Given the description of an element on the screen output the (x, y) to click on. 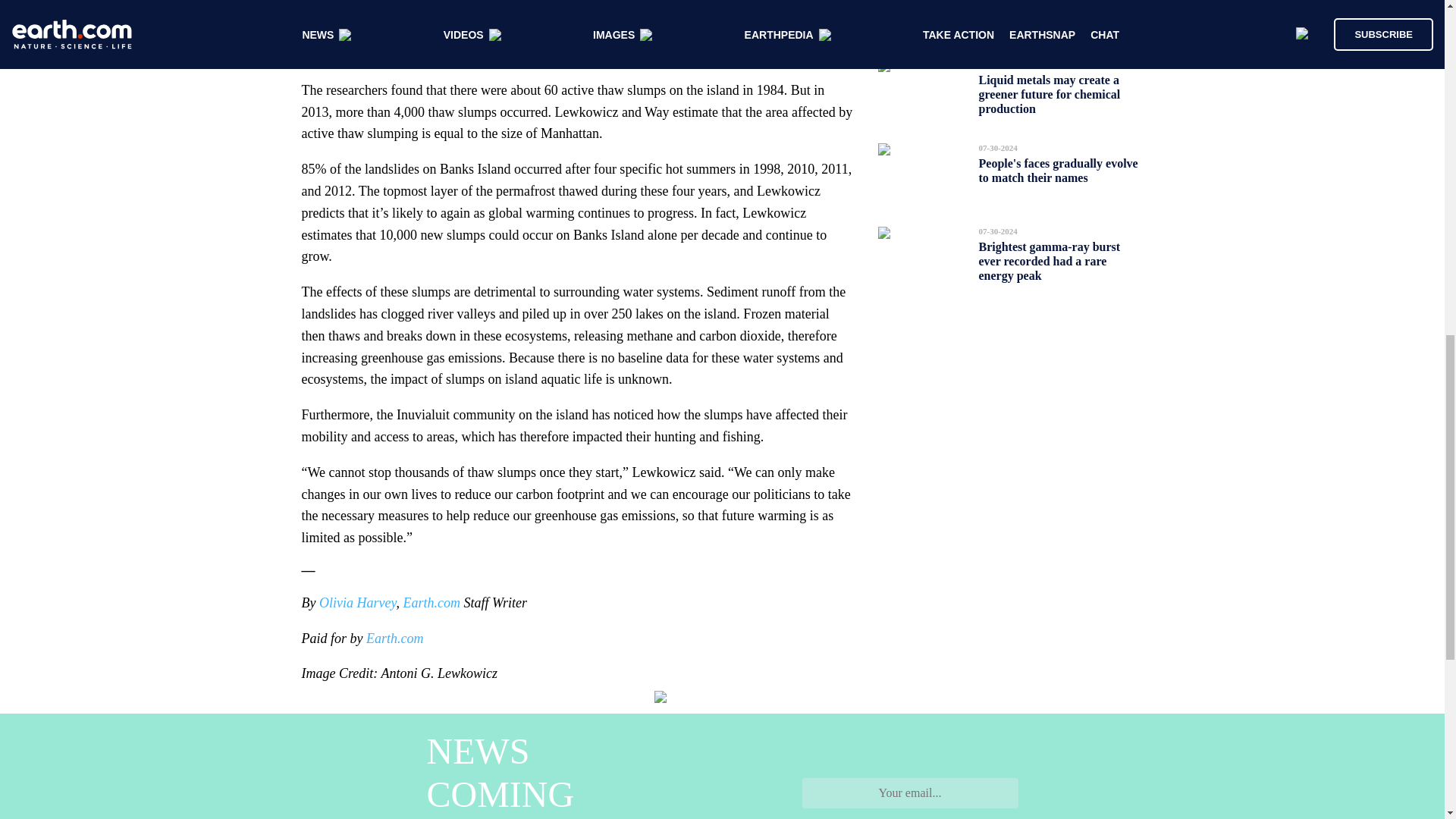
Earth.com (431, 602)
Earth.com (394, 638)
People's faces gradually evolve to match their names (1057, 170)
permafrost (724, 32)
Honeybees need a balanced diet for optimal health (1060, 12)
Olivia Harvey (357, 602)
